Given the description of an element on the screen output the (x, y) to click on. 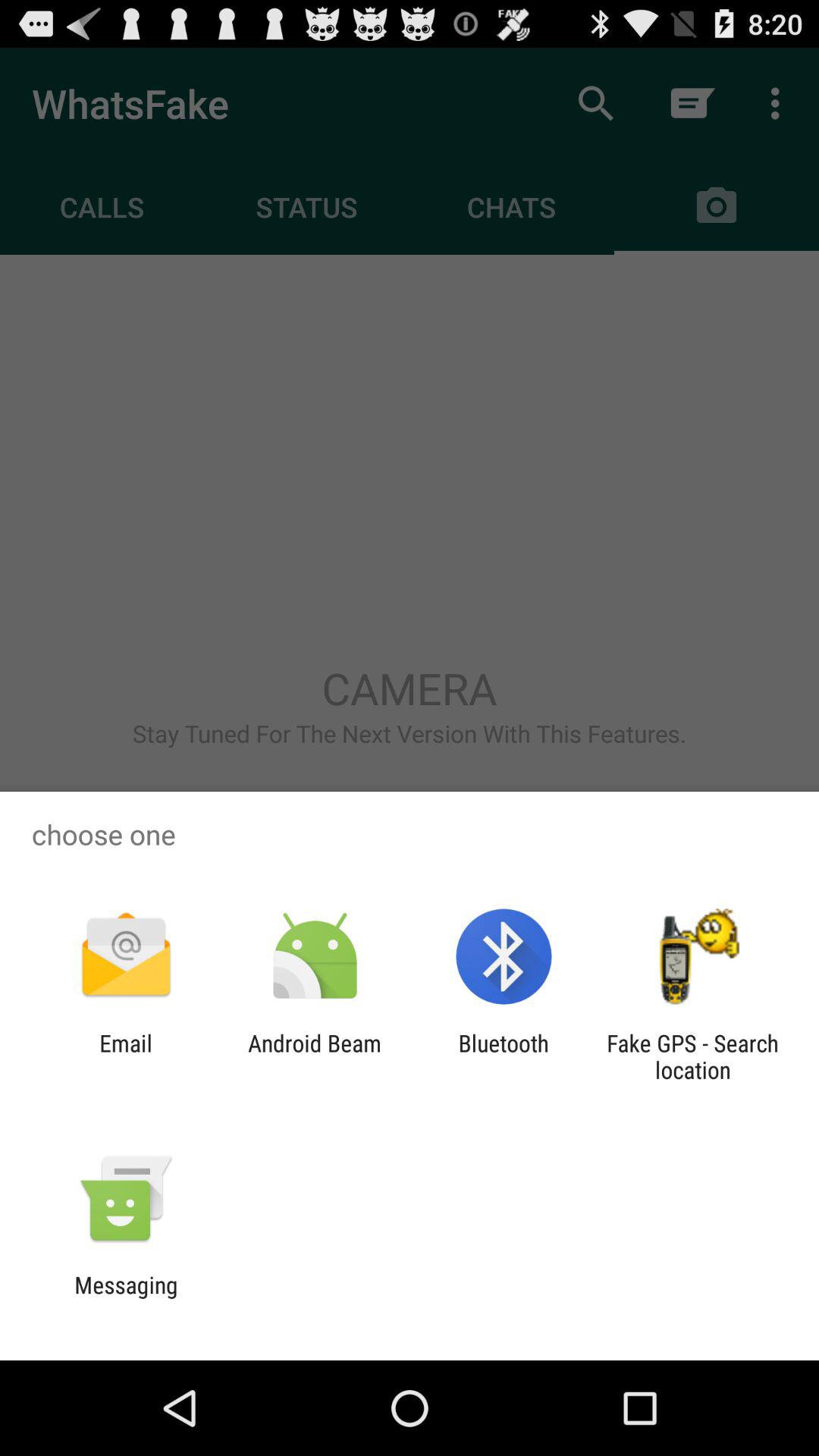
press the email icon (125, 1056)
